Given the description of an element on the screen output the (x, y) to click on. 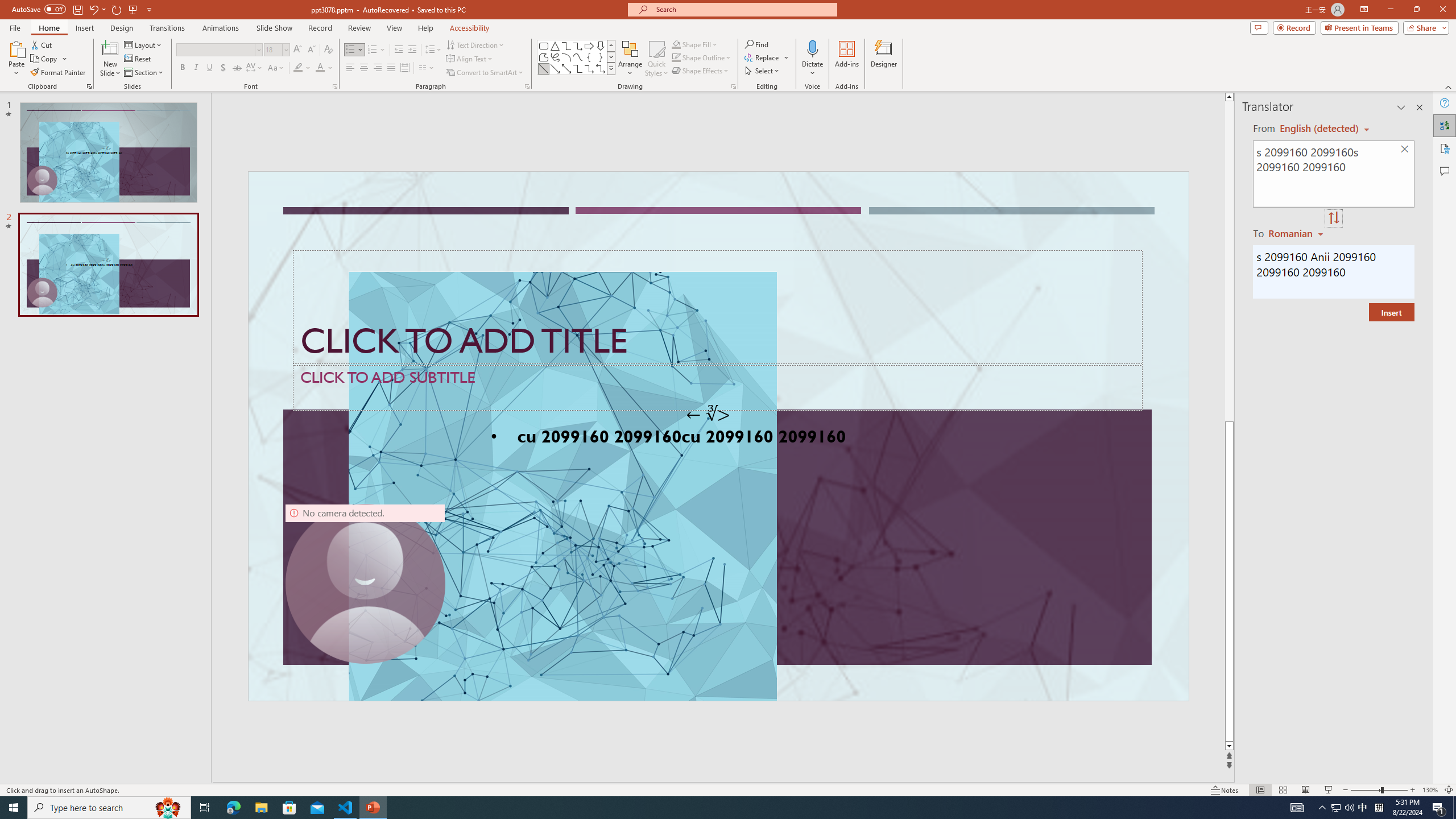
Czech (detected) (1319, 128)
Line Arrow: Double (566, 68)
